Given the description of an element on the screen output the (x, y) to click on. 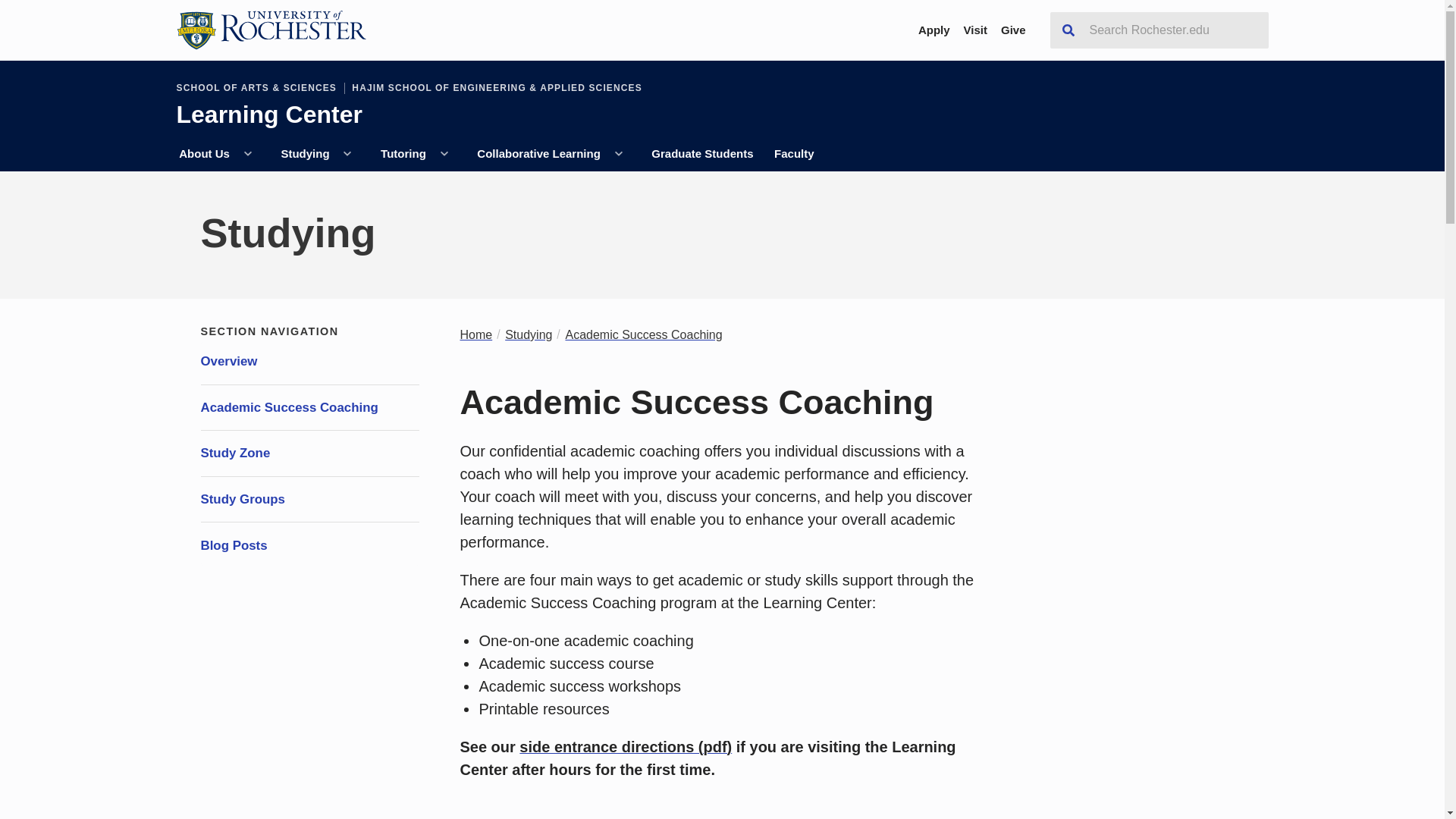
Studying (305, 154)
About Us (203, 154)
Apply (934, 30)
Faculty (793, 154)
Learning Center (268, 123)
Tutoring (402, 154)
Graduate Students (703, 154)
Search (1067, 30)
Collaborative Learning (539, 154)
